Given the description of an element on the screen output the (x, y) to click on. 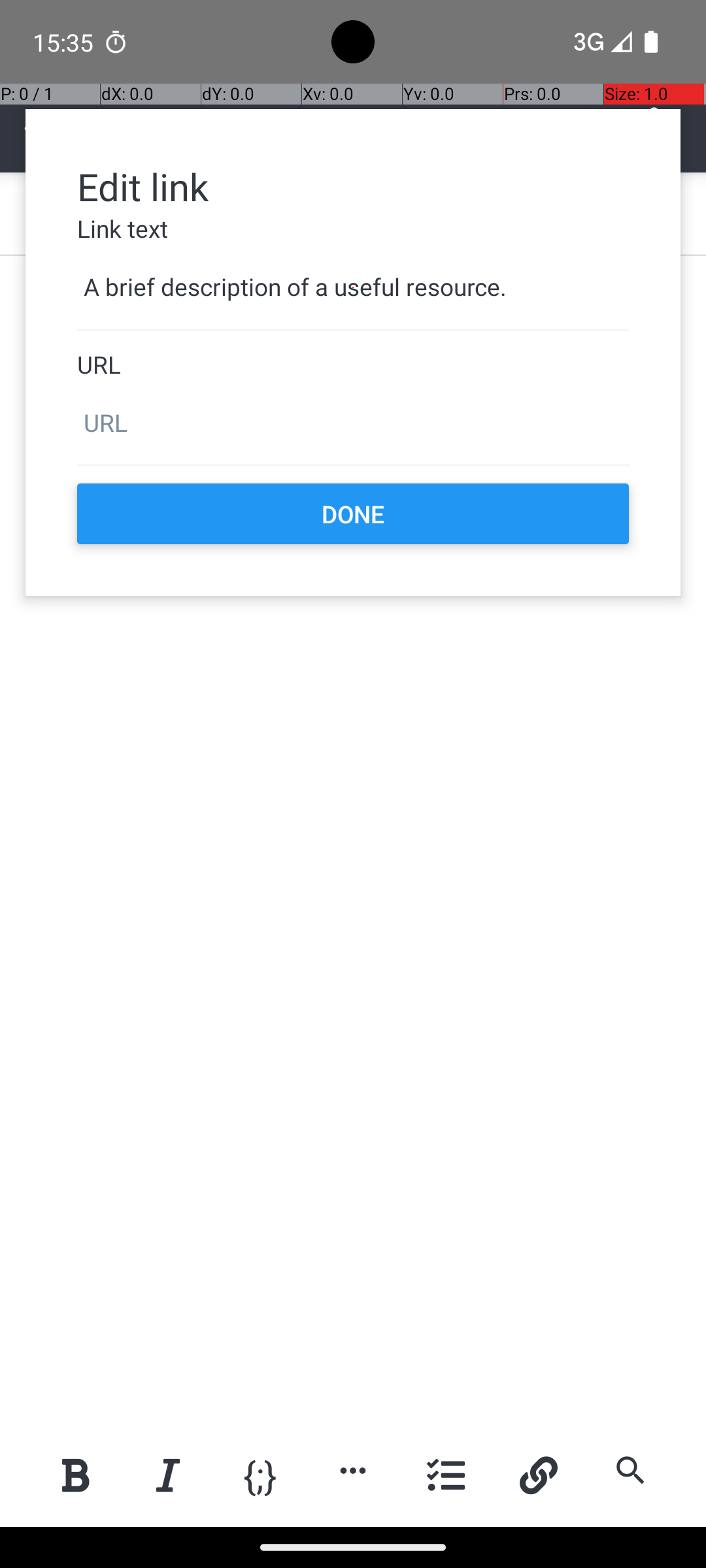
Edit link Element type: android.widget.TextView (352, 185)
Link text Element type: android.widget.TextView (352, 228)
A brief description of a useful resource. Element type: android.widget.EditText (352, 287)
URL Element type: android.widget.TextView (352, 363)
